Given the description of an element on the screen output the (x, y) to click on. 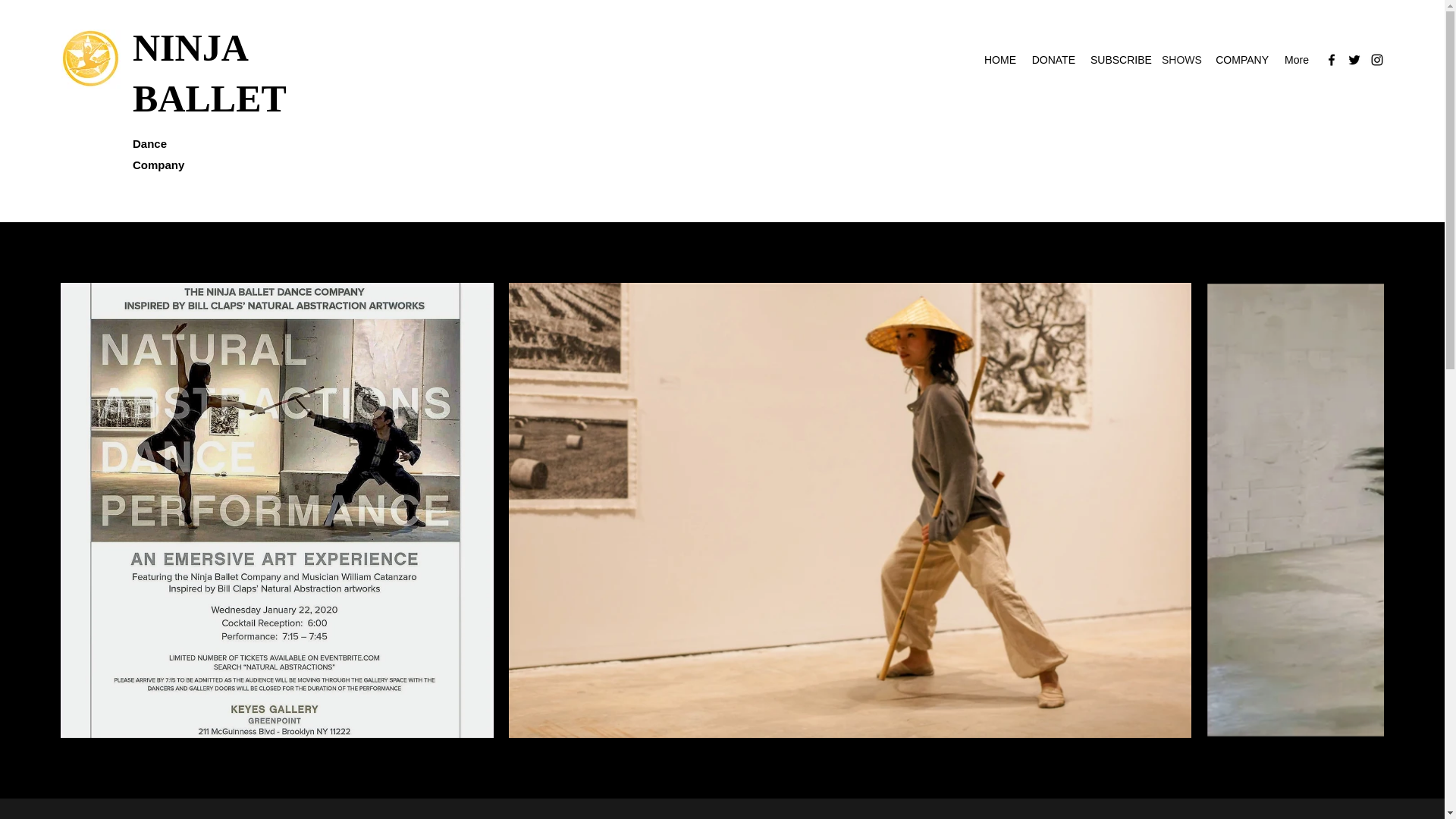
COMPANY (1242, 59)
DONATE (1053, 59)
SHOWS (1181, 59)
HOME (999, 59)
SUBSCRIBE (1118, 59)
